Given the description of an element on the screen output the (x, y) to click on. 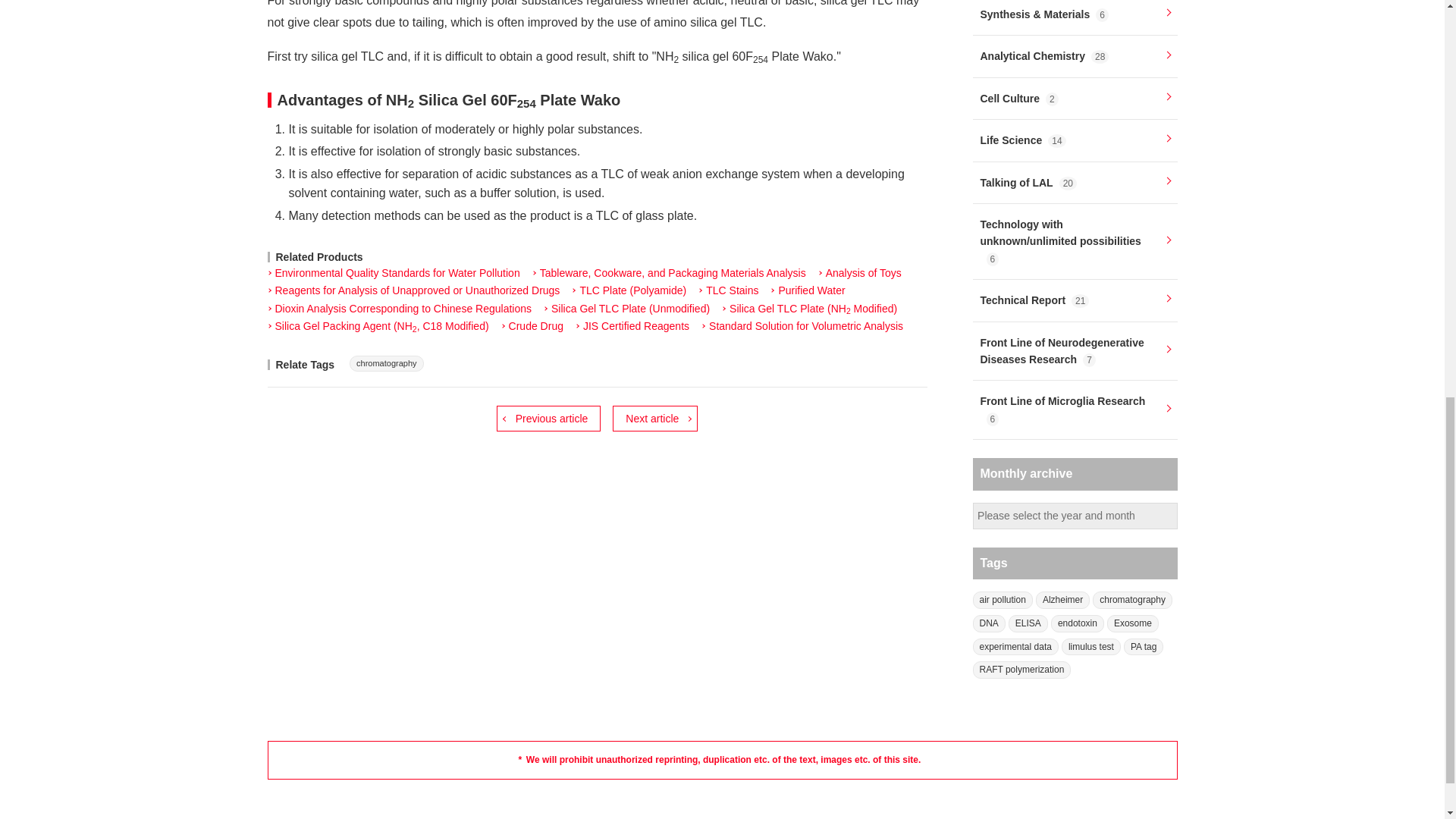
Crude Drug (531, 326)
Next article (654, 418)
Standard Solution for Volumetric Analysis (801, 326)
Exosome (1132, 623)
experimental data (1015, 647)
Previous article (548, 418)
chromatography (386, 363)
chromatography (1132, 600)
Analysis of Toys (859, 273)
RAFT polymerization (1021, 669)
